Given the description of an element on the screen output the (x, y) to click on. 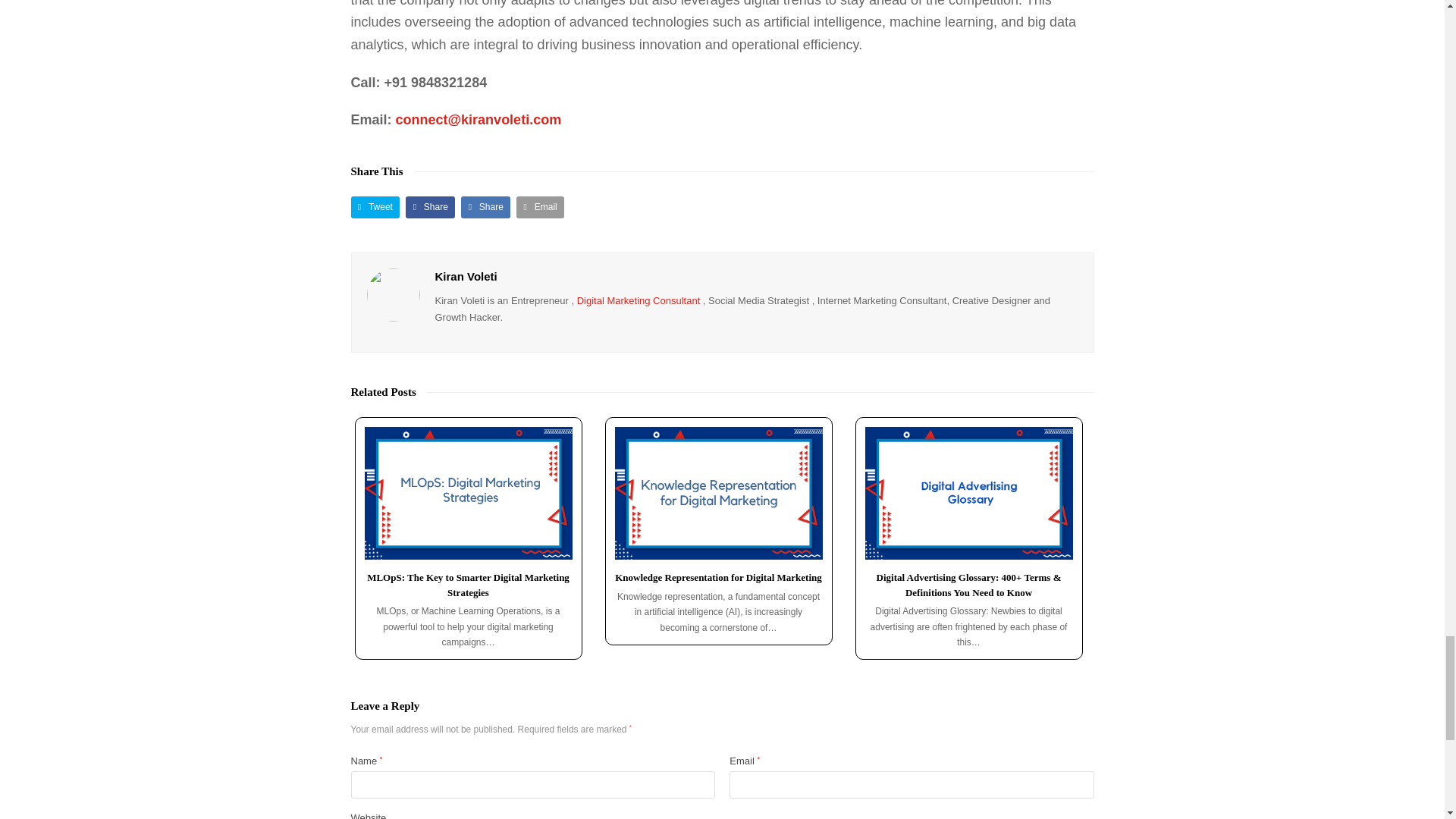
MLOpS: The Key to Smarter Digital Marketing Strategies (467, 584)
Knowledge Representation for Digital Marketing (718, 492)
MLOpS: The Key to Smarter Digital Marketing Strategies (468, 492)
Visit Author Page (393, 294)
Share (486, 207)
Email (540, 207)
Share (430, 207)
Knowledge Representation for Digital Marketing (718, 577)
Digital Marketing Consultant (638, 300)
Visit Author Page (466, 276)
